Given the description of an element on the screen output the (x, y) to click on. 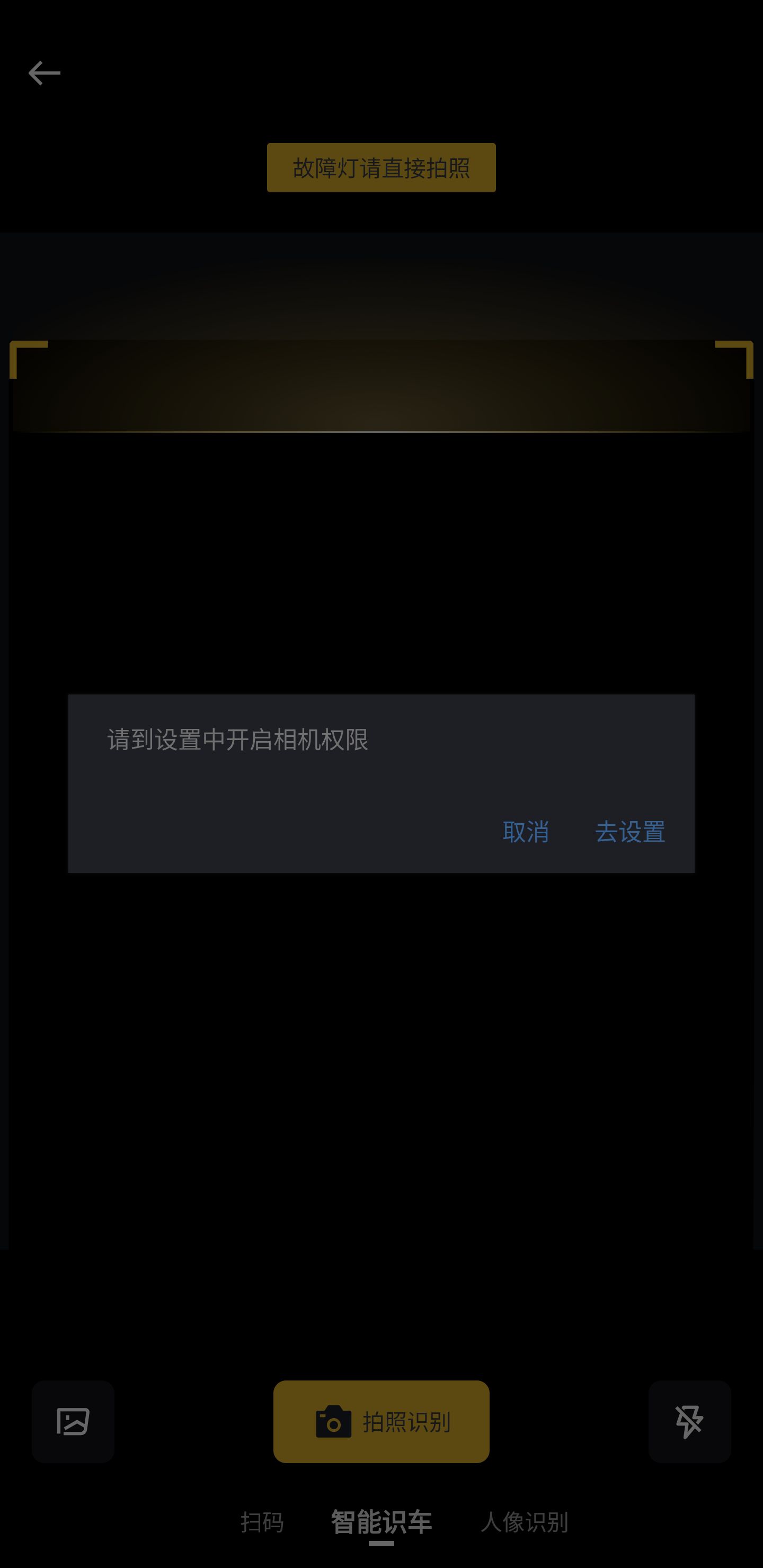
取消 (526, 831)
去设置 (630, 831)
